Given the description of an element on the screen output the (x, y) to click on. 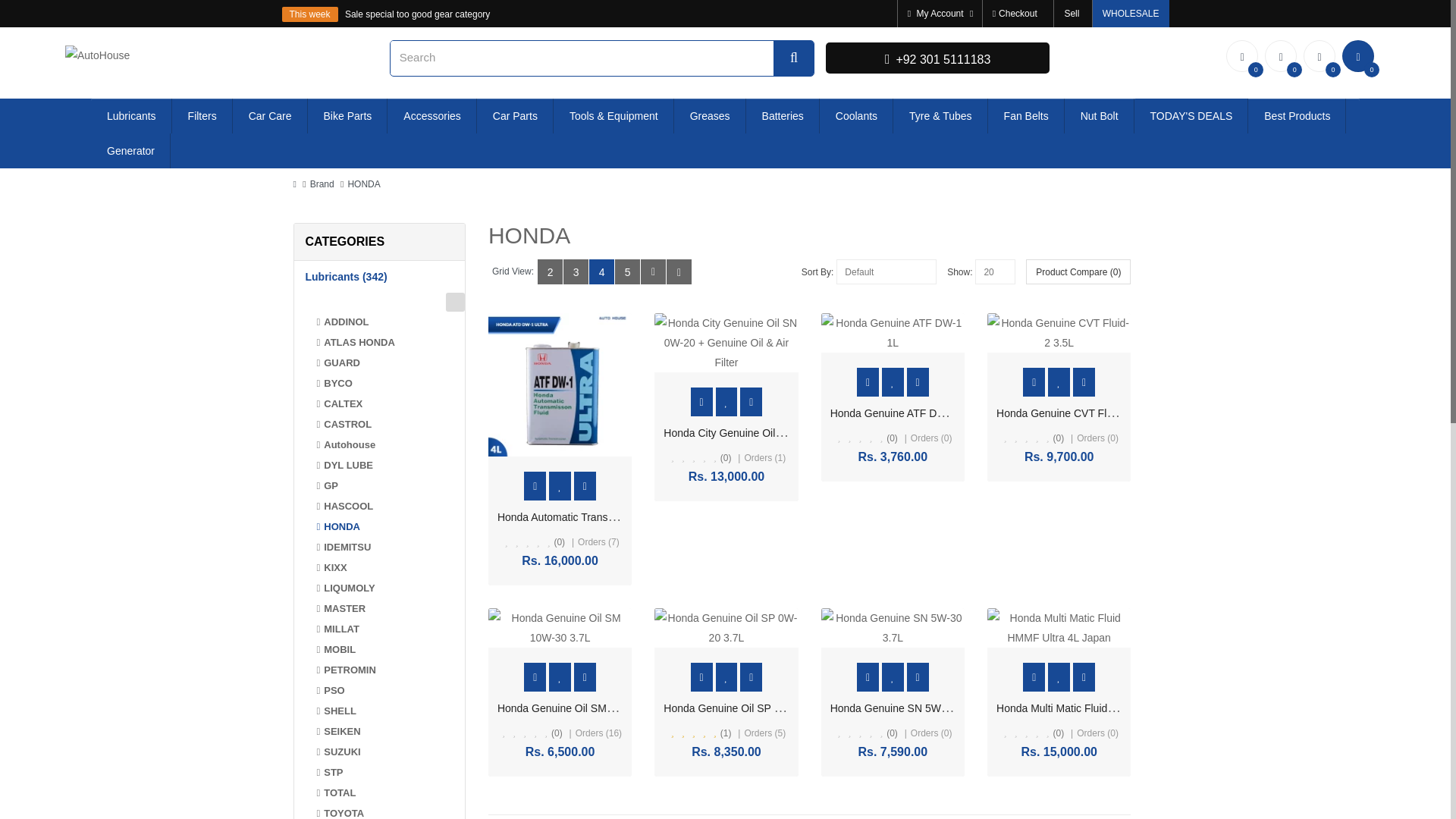
Sale special too good gear category (417, 14)
List (652, 271)
Checkout (1014, 13)
Checkout  (1014, 13)
Wholesale (1131, 13)
My Account  (938, 13)
WHOLESALE (1131, 13)
Sell (1071, 13)
AutoHouse (97, 55)
My Account (938, 13)
